Given the description of an element on the screen output the (x, y) to click on. 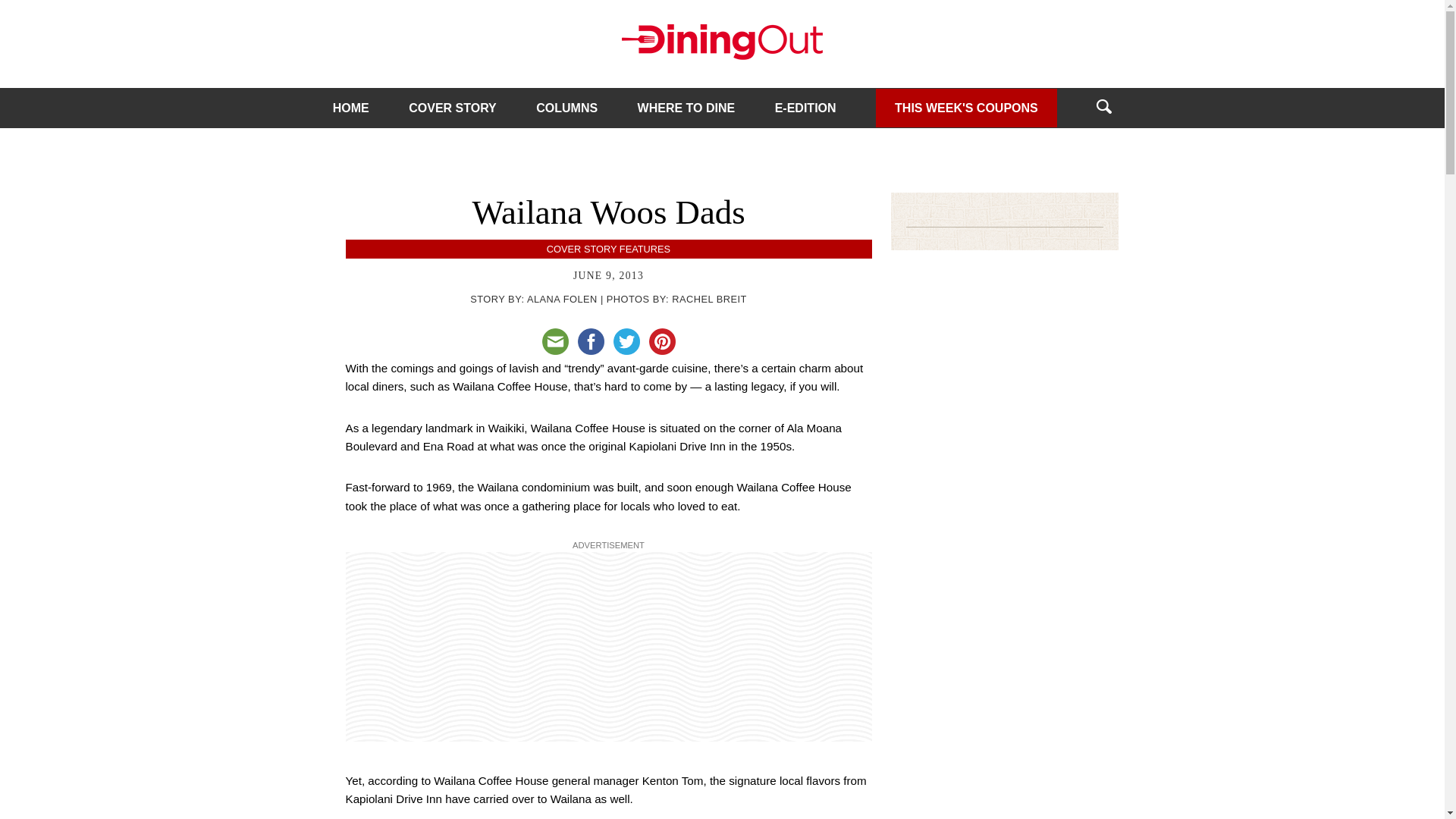
email (554, 341)
Features (644, 248)
Cover Story (581, 248)
COVER STORY (452, 107)
pinterest (662, 341)
twitter (625, 341)
HOME (351, 107)
facebook (590, 341)
WHERE TO DINE (686, 107)
FEATURES (644, 248)
